Given the description of an element on the screen output the (x, y) to click on. 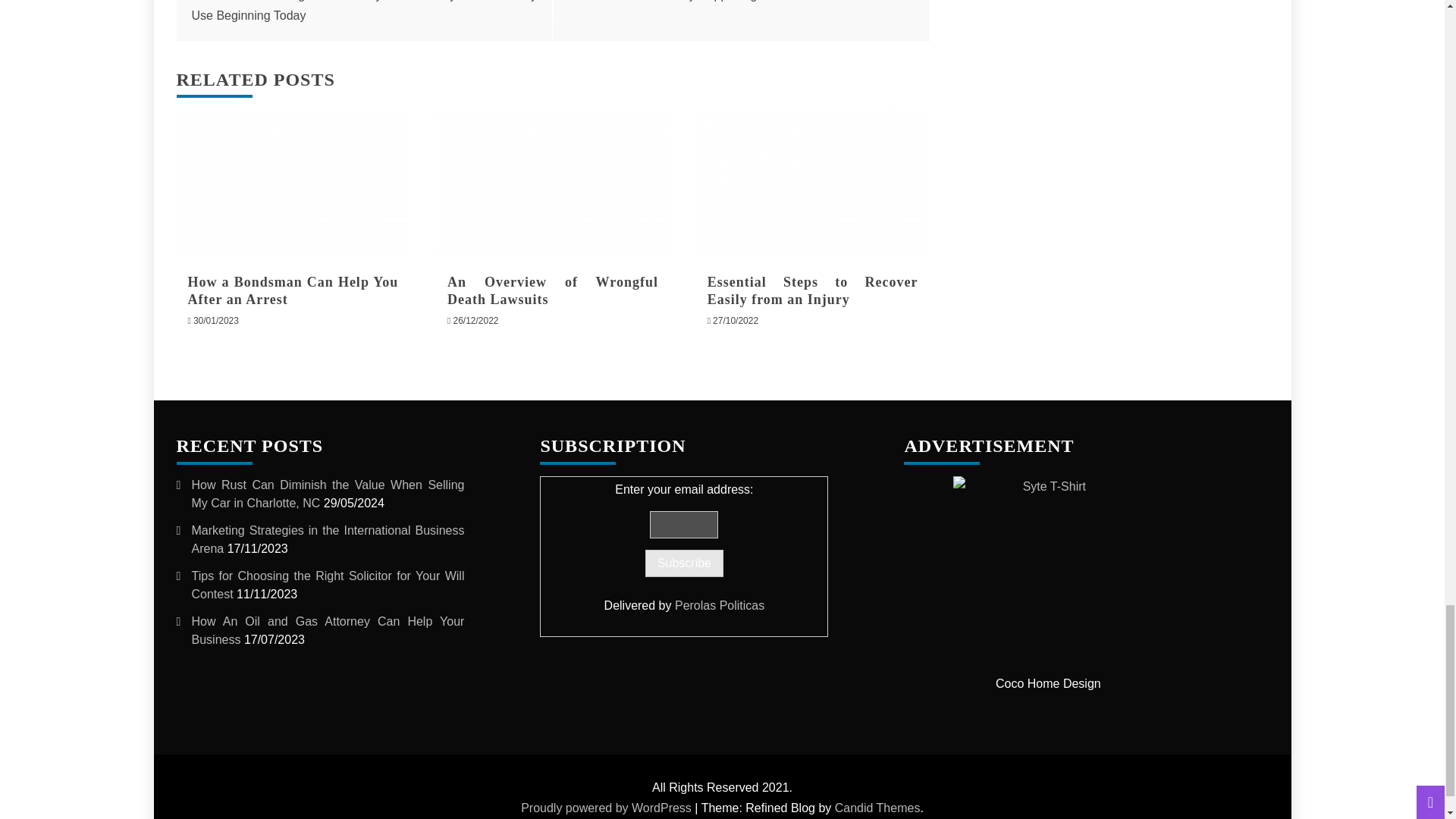
An Overview of Wrongful Death Lawsuits (552, 290)
An Overview of Wrongful Death Lawsuits (552, 181)
How a Bondsman Can Help You After an Arrest (292, 290)
How a Bondsman Can Help You After an Arrest (292, 181)
Subscribe (684, 563)
Essential Steps to Recover Easily from an Injury (812, 181)
Essential Steps to Recover Easily from an Injury (812, 290)
